Given the description of an element on the screen output the (x, y) to click on. 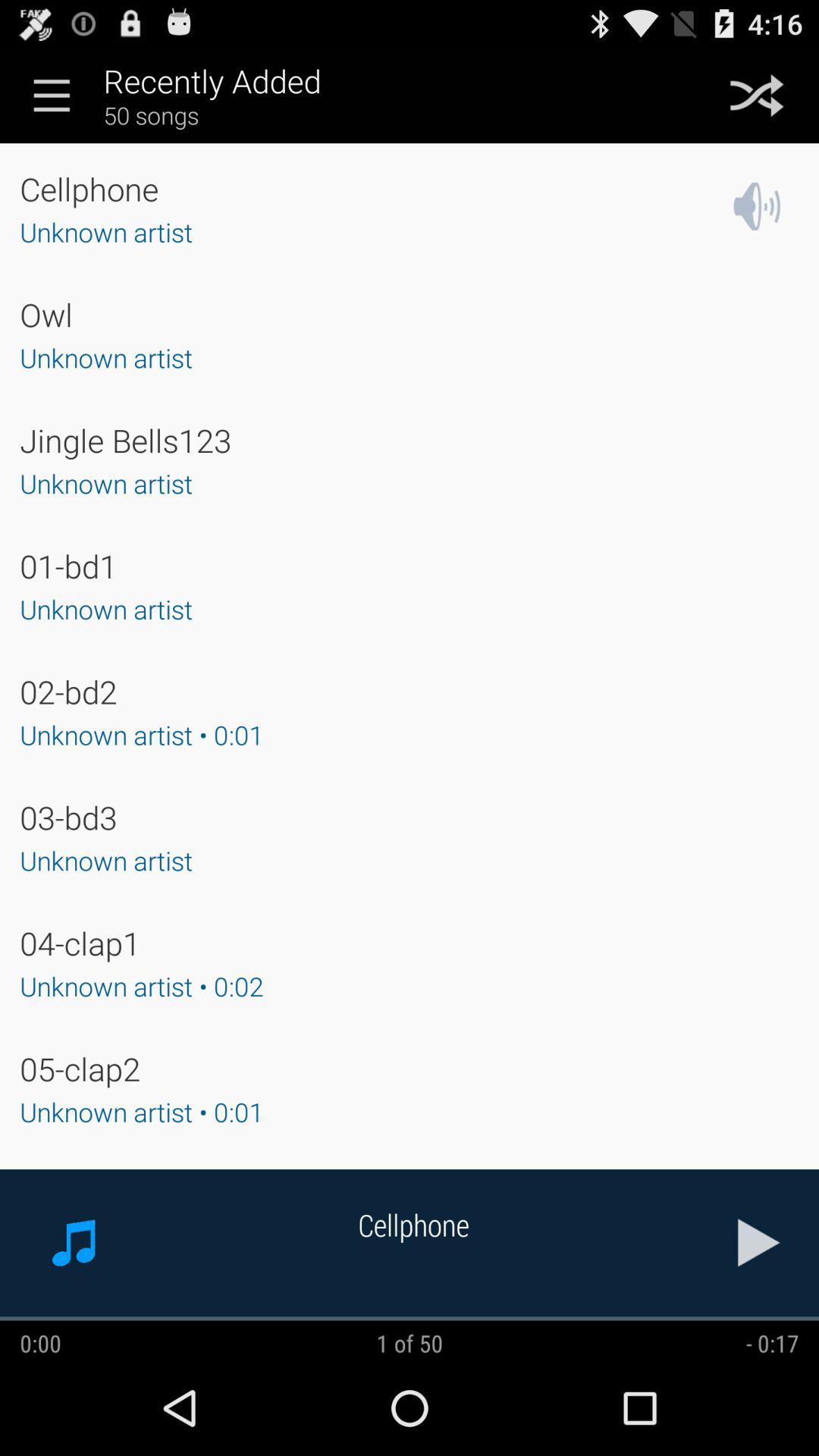
go to next page (759, 1242)
